Given the description of an element on the screen output the (x, y) to click on. 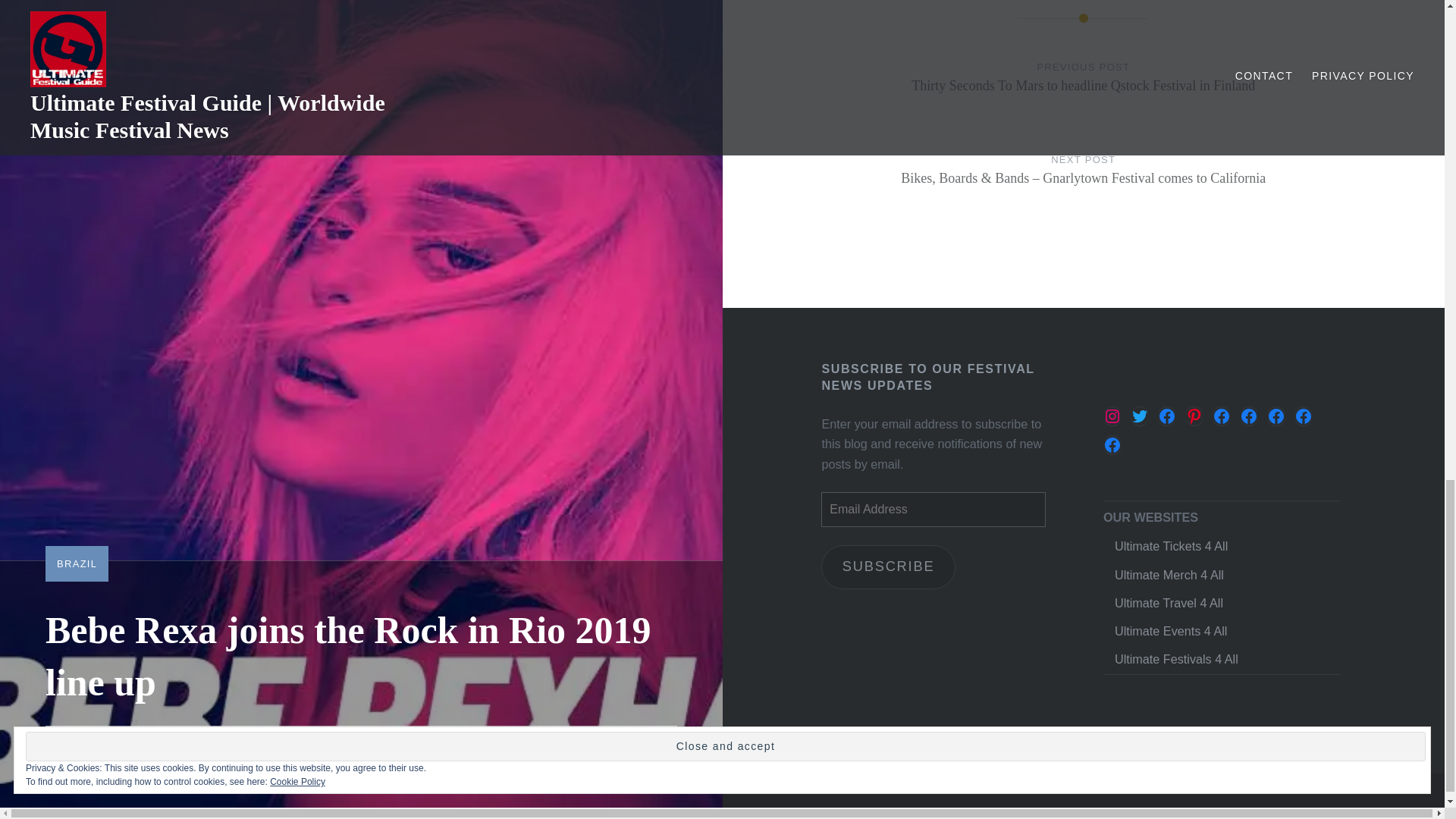
Ultimate Festivals 4 All (1177, 658)
Pinterest (1194, 416)
Facebook (1221, 416)
Instagram (1112, 416)
Ultimate Events 4 All (1171, 631)
Facebook (1166, 416)
Ultimate Tickets 4 All (1171, 545)
SUBSCRIBE (888, 566)
Facebook (1303, 416)
